Given the description of an element on the screen output the (x, y) to click on. 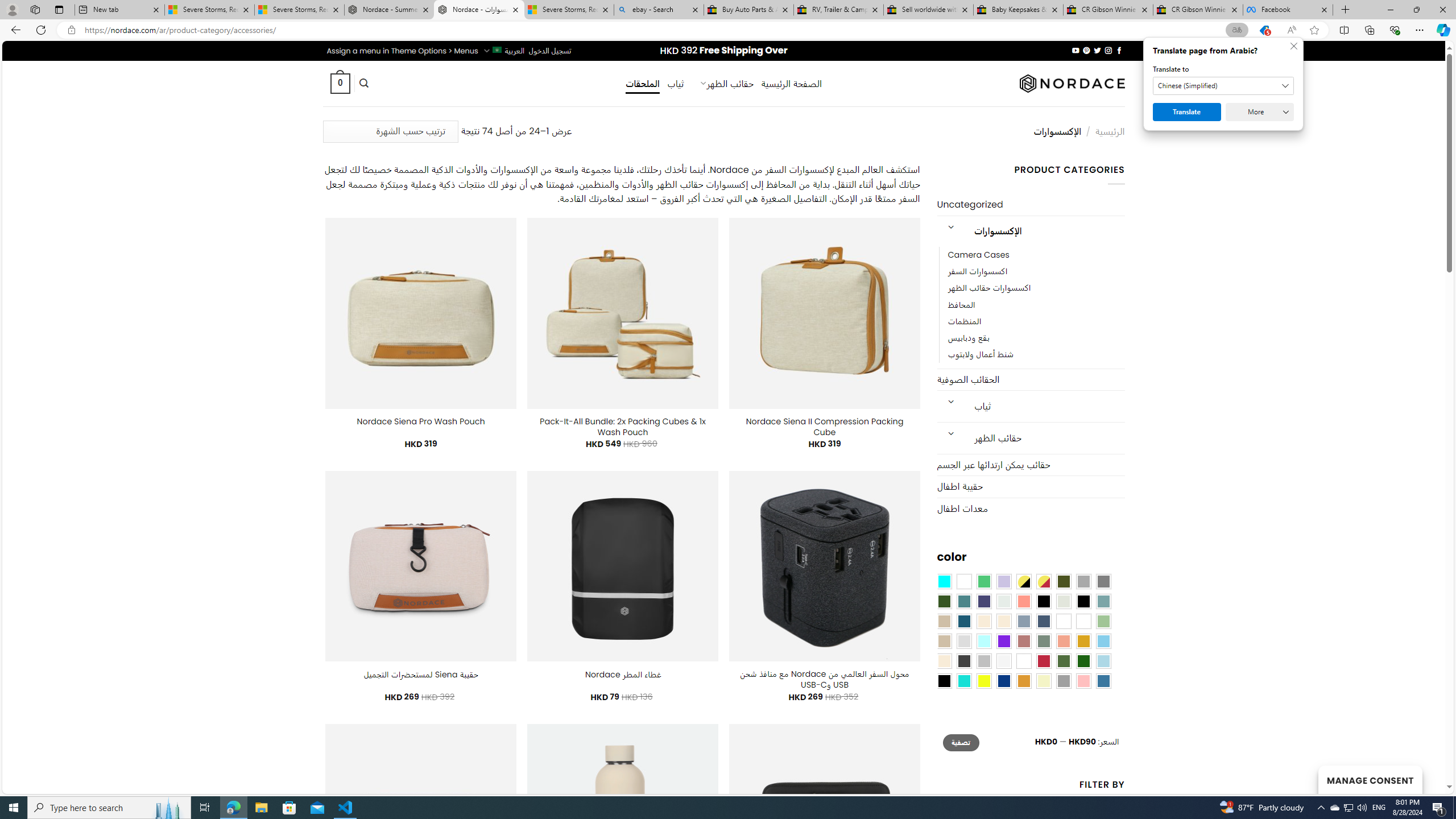
Rose (1023, 640)
Camera Cases (978, 254)
Follow on Facebook (1118, 50)
Light Purple (1003, 581)
